Given the description of an element on the screen output the (x, y) to click on. 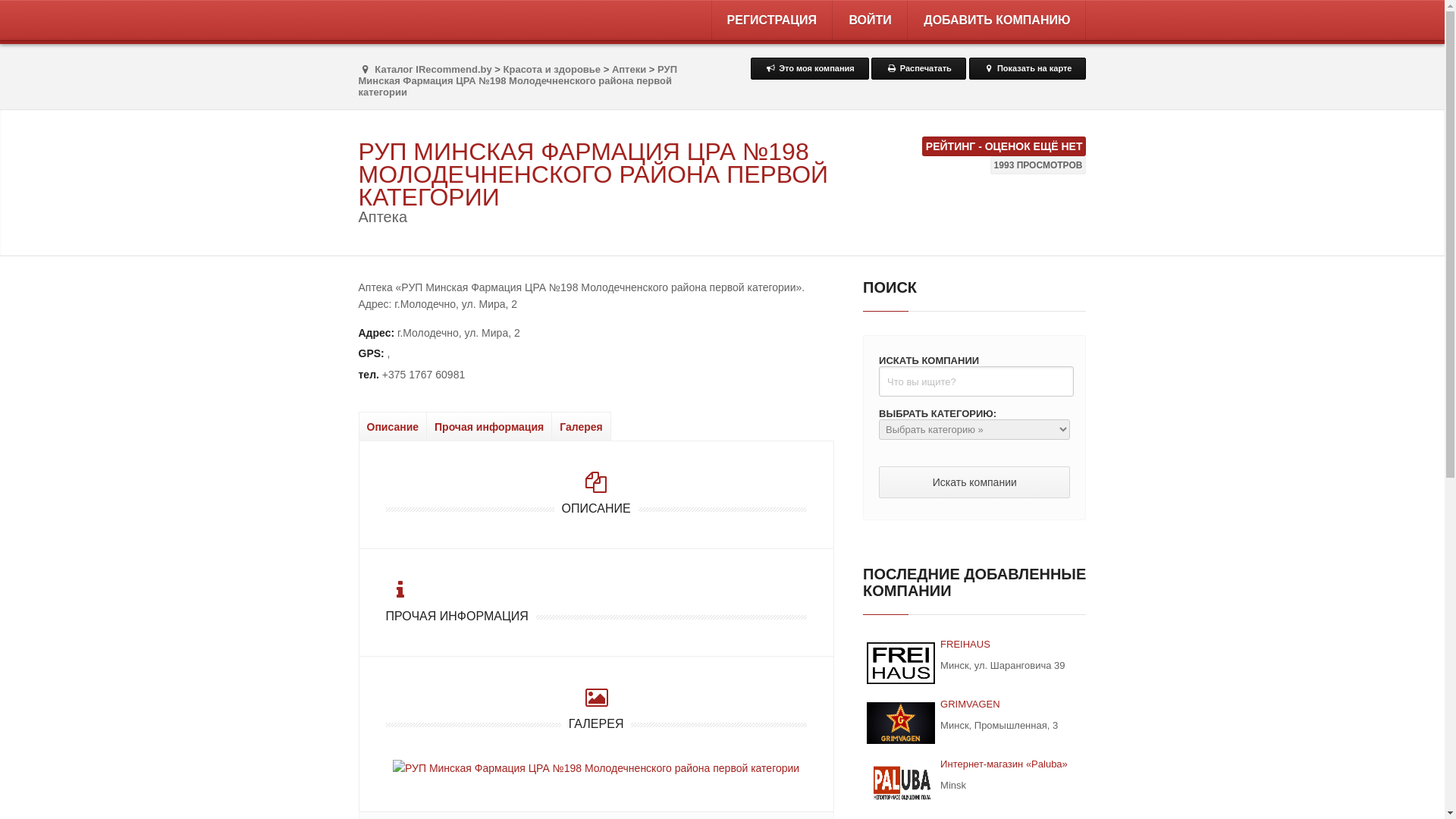
GRIMVAGEN Element type: hover (900, 722)
FREIHAUS Element type: text (965, 643)
FREIHAUS Element type: hover (900, 662)
GRIMVAGEN Element type: text (970, 703)
